Given the description of an element on the screen output the (x, y) to click on. 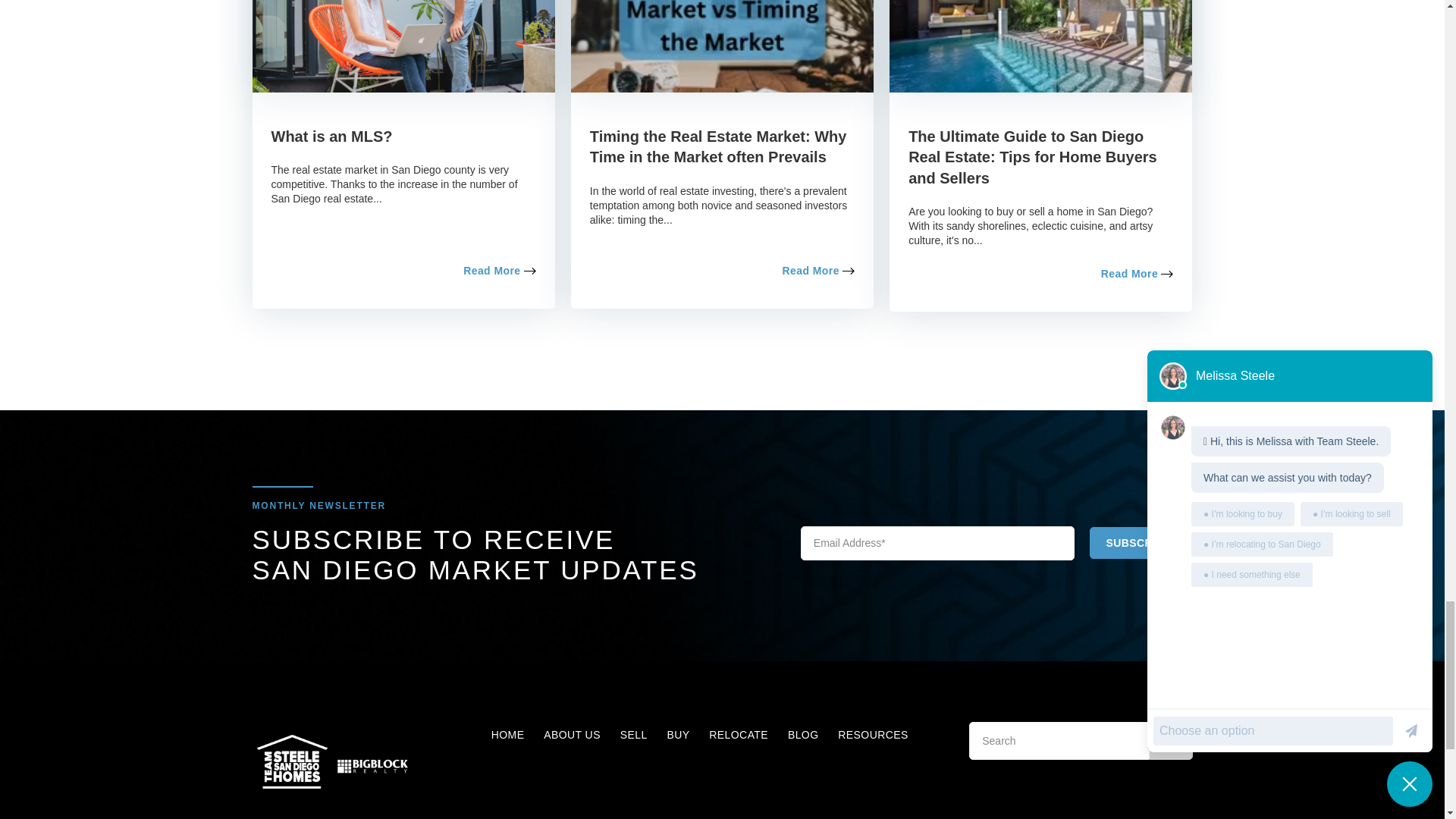
Read More (1136, 273)
BLOG (802, 734)
RELOCATE (738, 734)
Subscribe (1137, 542)
RESOURCES (872, 734)
Read More (817, 270)
Read More (499, 270)
ABOUT US (571, 734)
SELL (633, 734)
Subscribe (1137, 542)
HOME (508, 734)
BUY (677, 734)
